Given the description of an element on the screen output the (x, y) to click on. 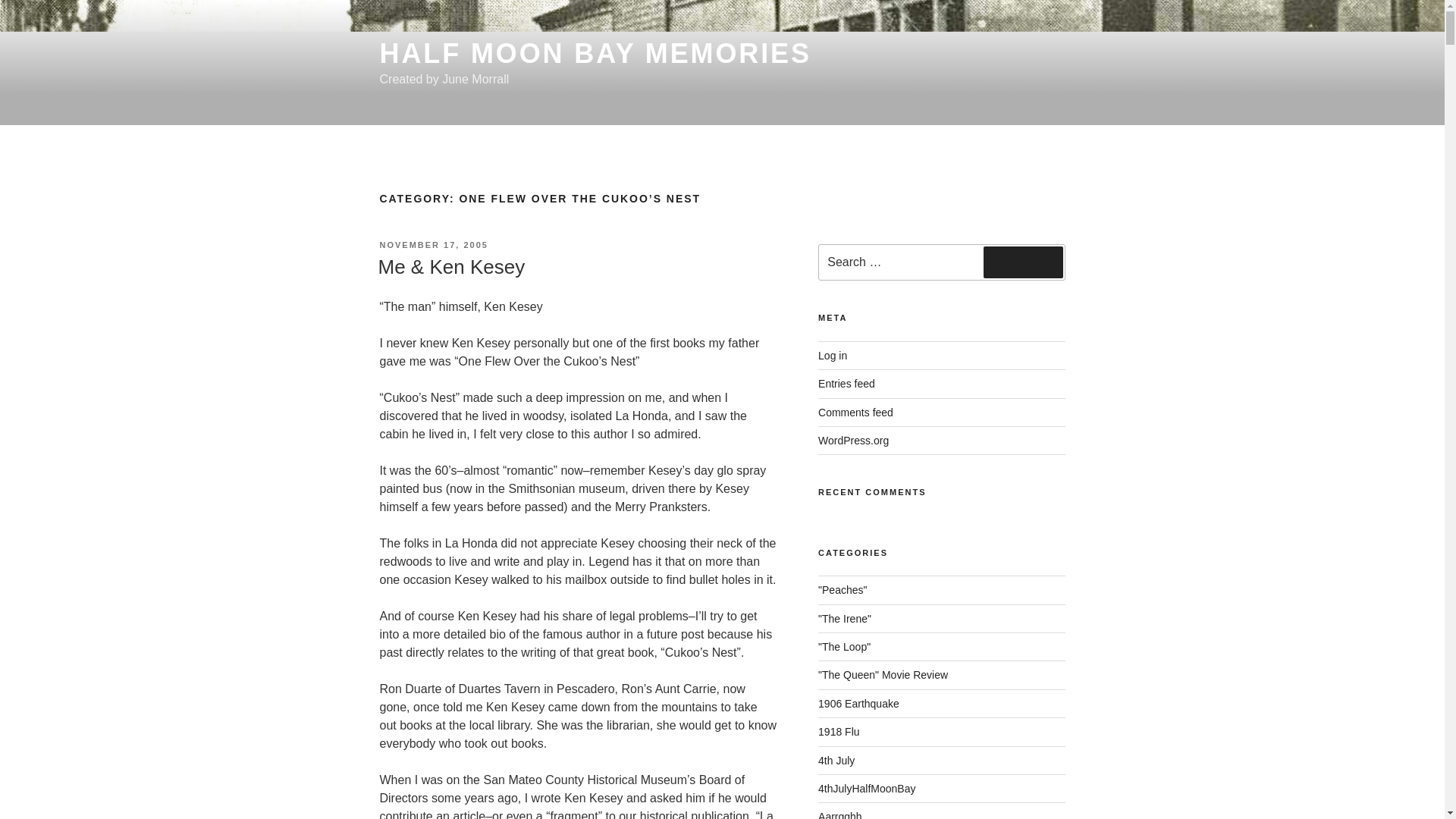
"The Queen" Movie Review (882, 674)
Aarrgghh (839, 814)
4th July (836, 760)
1906 Earthquake (858, 703)
Log in (832, 355)
Comments feed (855, 412)
WordPress.org (853, 440)
"Peaches" (842, 589)
Search (1023, 262)
"The Irene" (844, 618)
